Given the description of an element on the screen output the (x, y) to click on. 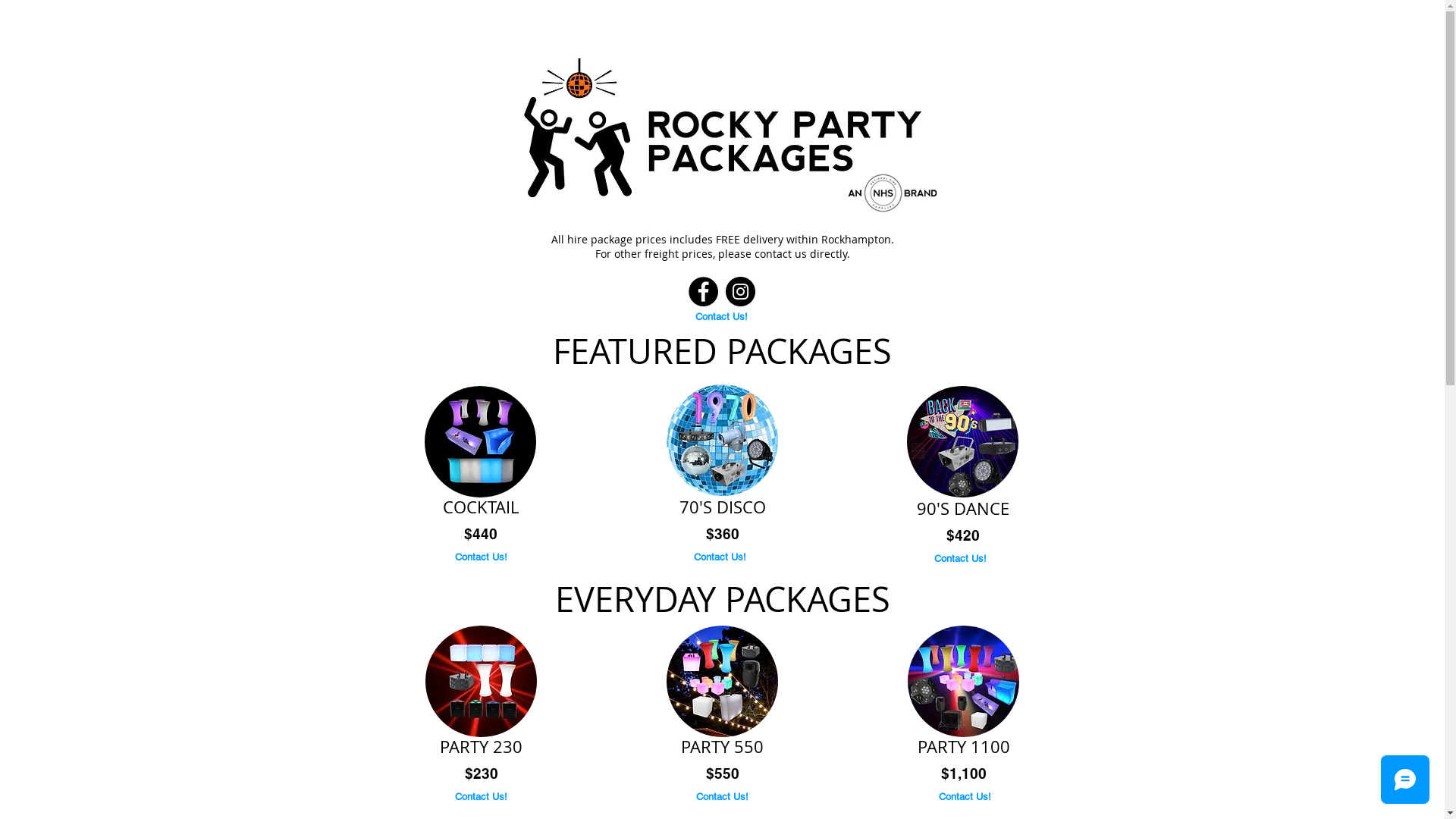
Contact Us! Element type: text (960, 558)
Contact Us! Element type: text (965, 796)
Contact Us! Element type: text (481, 557)
Contact Us! Element type: text (481, 796)
Contact Us! Element type: text (721, 316)
Contact Us! Element type: text (722, 796)
Contact Us! Element type: text (719, 557)
AN NHS BRAND .png Element type: hover (890, 193)
